Given the description of an element on the screen output the (x, y) to click on. 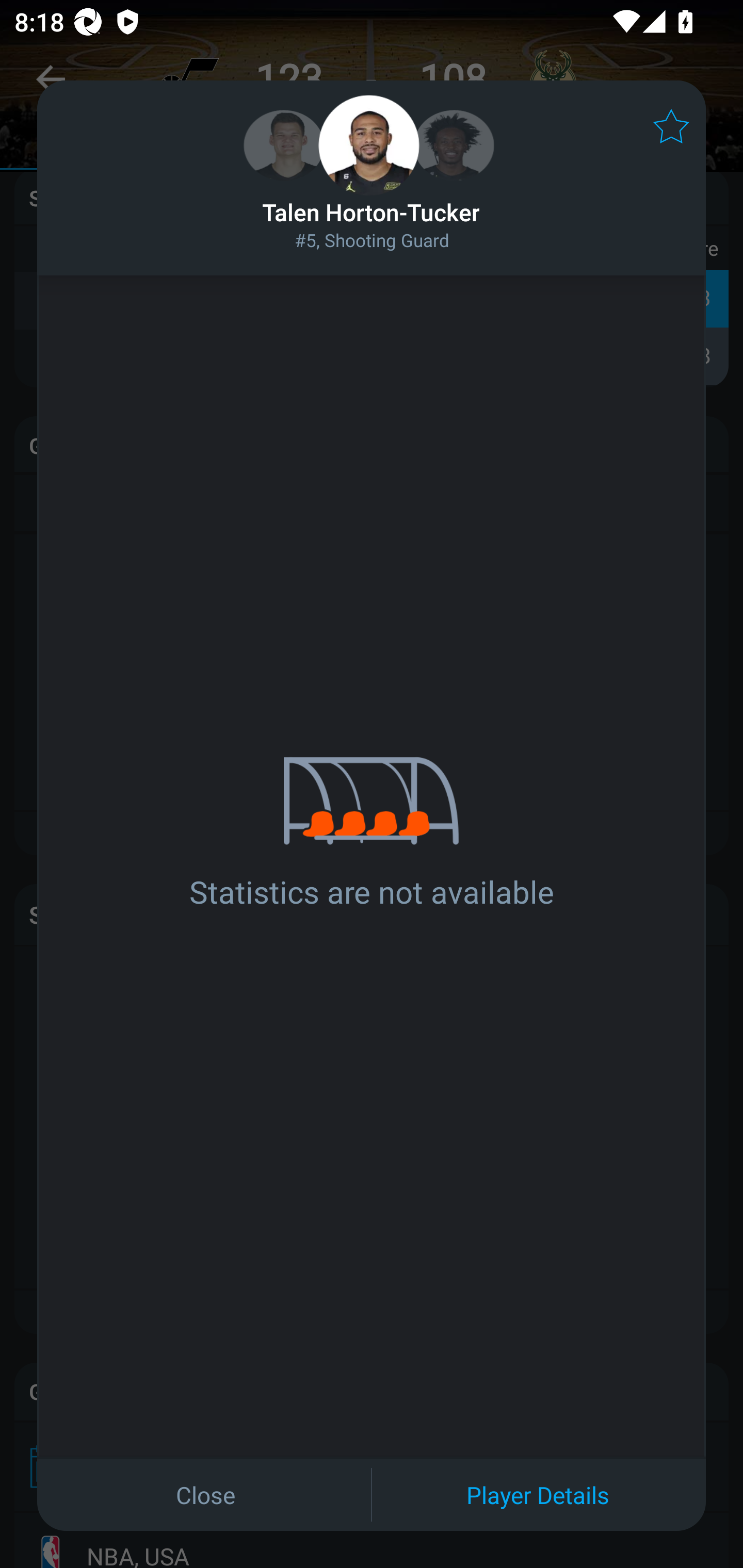
Close (205, 1494)
Player Details (537, 1494)
